Given the description of an element on the screen output the (x, y) to click on. 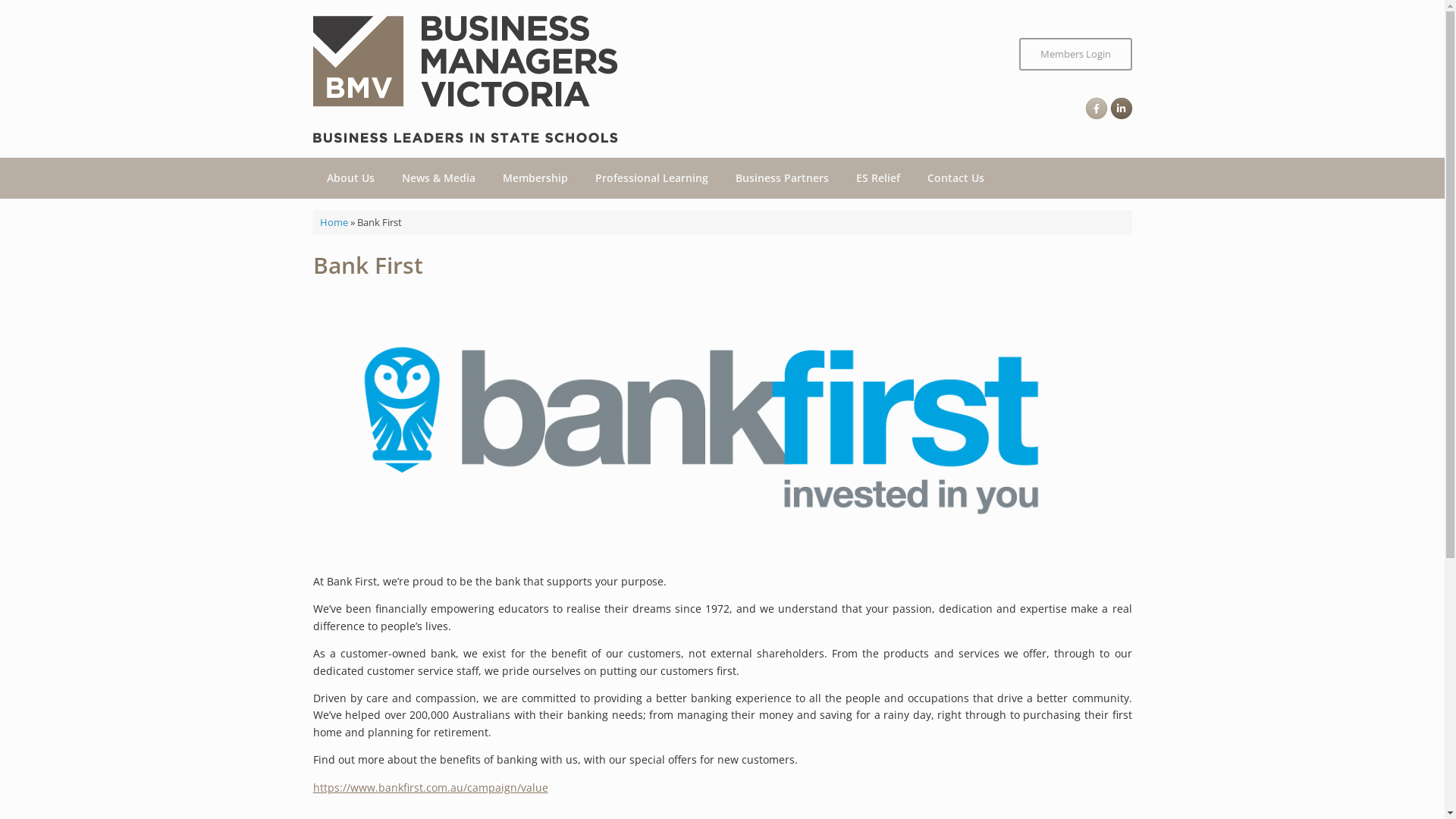
Home Element type: text (334, 222)
Members Login Element type: text (1075, 53)
Professional Learning Element type: text (650, 177)
Business Managers Victoria Element type: hover (464, 78)
About Us Element type: text (349, 177)
Business Managers Victoria on Linkedin Element type: hover (1120, 108)
News & Media Element type: text (438, 177)
Business Partners Element type: text (781, 177)
Contact Us Element type: text (955, 177)
https://www.bankfirst.com.au/campaign/value Element type: text (429, 787)
ES Relief Element type: text (877, 177)
Business Managers Victoria on Facebook Element type: hover (1096, 108)
Membership Element type: text (534, 177)
